Given the description of an element on the screen output the (x, y) to click on. 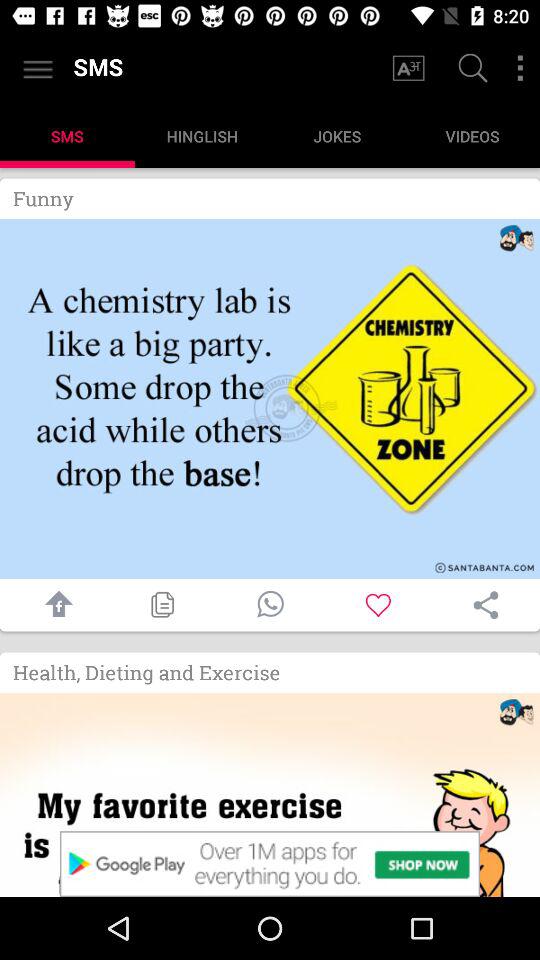
share this (486, 605)
